Given the description of an element on the screen output the (x, y) to click on. 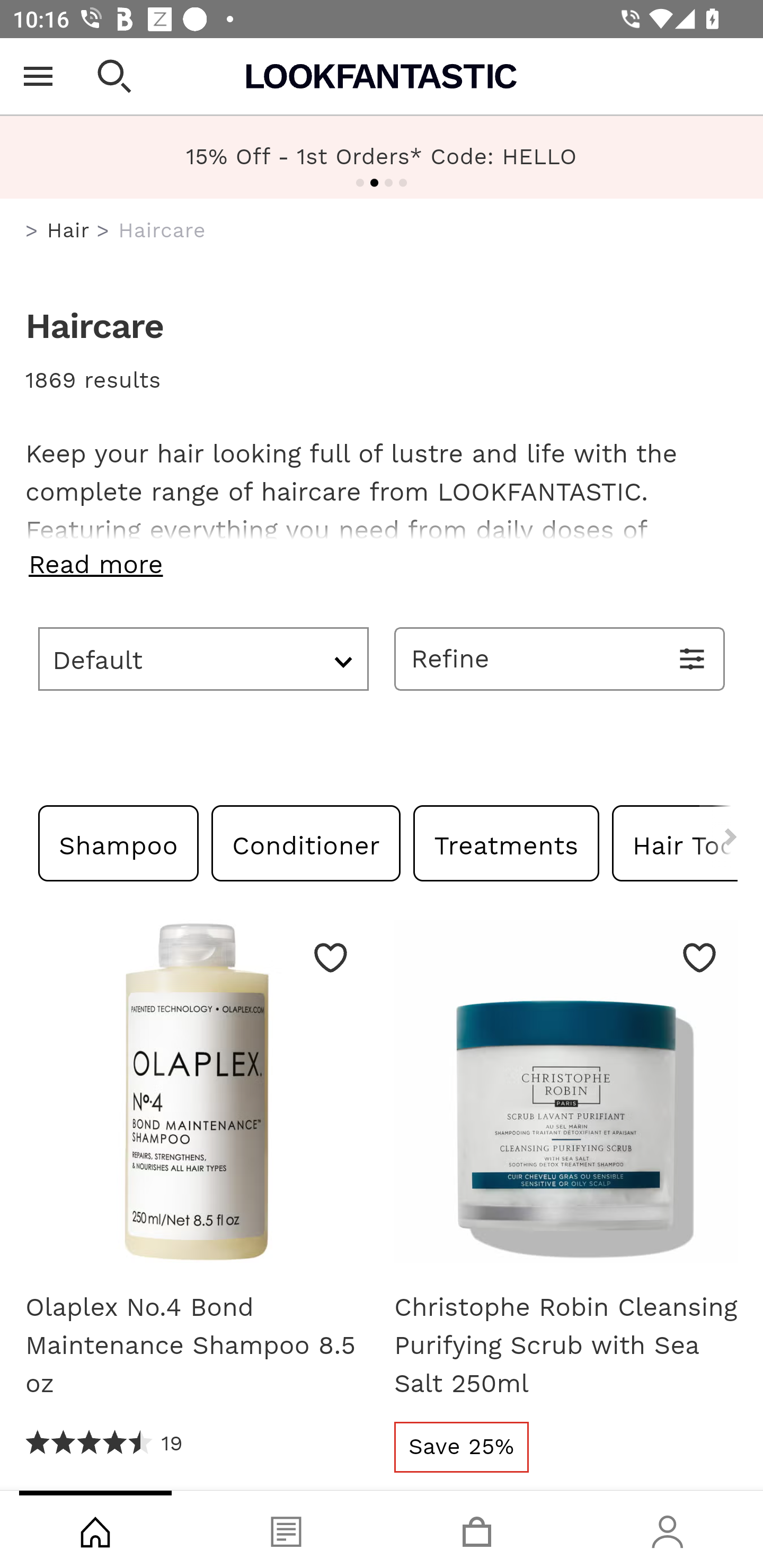
Open Menu (38, 75)
Open search (114, 75)
Lookfantastic USA (381, 75)
us.lookfantastic (32, 230)
Hair (67, 230)
Read more (381, 564)
Default (203, 658)
Refine (559, 658)
Shop Shampoo (118, 842)
Shop Conditioner (306, 842)
Shop Treatments (505, 842)
Shop Hair Tools (673, 842)
Olaplex No.4 Bond Maintenance Shampoo 8.5 oz (196, 1097)
Save to Wishlist (330, 957)
Save to Wishlist (698, 957)
Olaplex No.4 Bond Maintenance Shampoo 8.5 oz (196, 1344)
Save 25%, read more (461, 1446)
4.53 Stars 19 Reviews (104, 1442)
Shop, tab, 1 of 4 (95, 1529)
Blog, tab, 2 of 4 (285, 1529)
Basket, tab, 3 of 4 (476, 1529)
Account, tab, 4 of 4 (667, 1529)
